Given the description of an element on the screen output the (x, y) to click on. 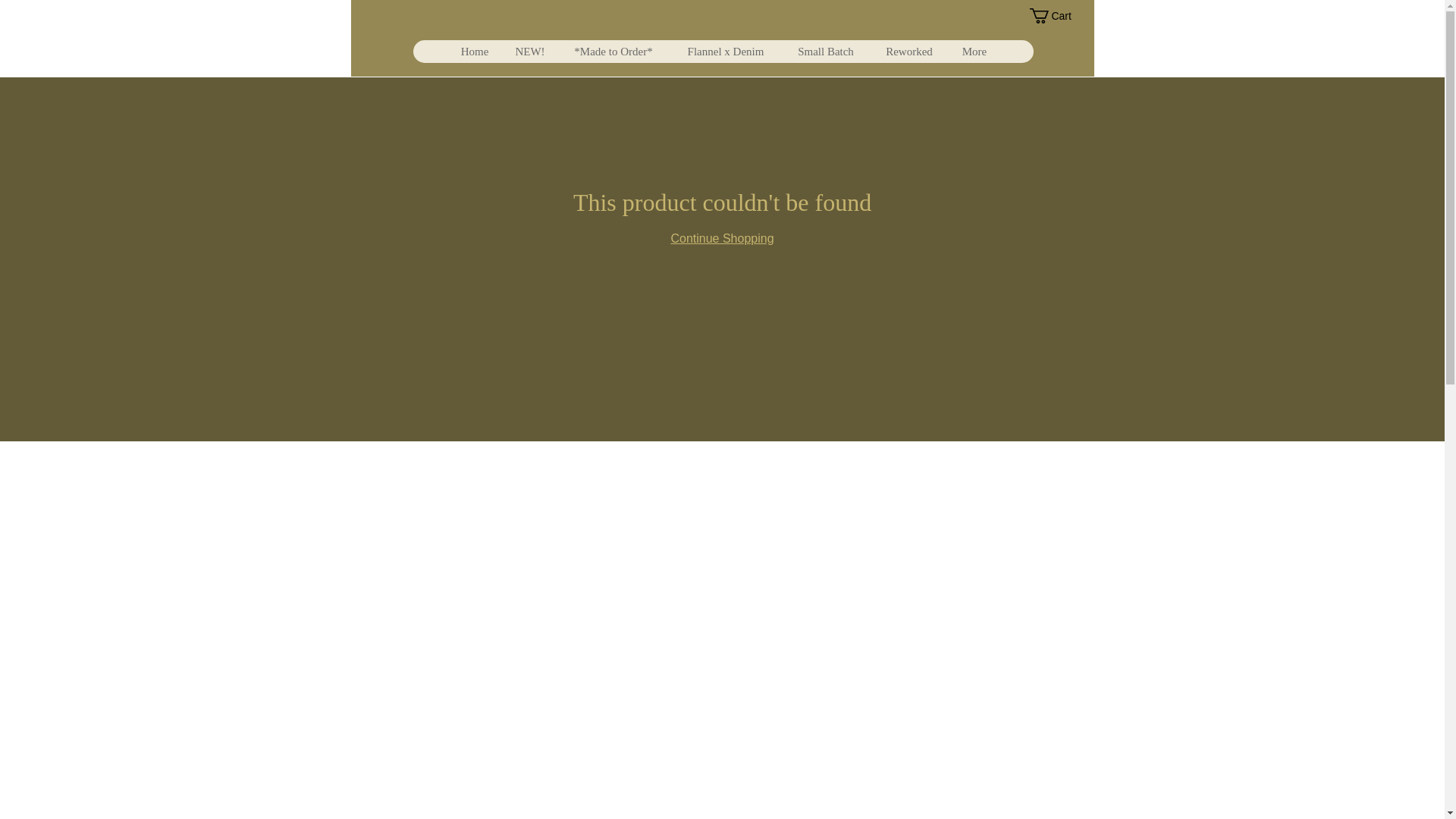
Cart (1059, 15)
Small Batch (824, 51)
Continue Shopping (721, 237)
Home (473, 51)
Cart (1059, 15)
Flannel x Denim (724, 51)
NEW! (529, 51)
Reworked (908, 51)
